Given the description of an element on the screen output the (x, y) to click on. 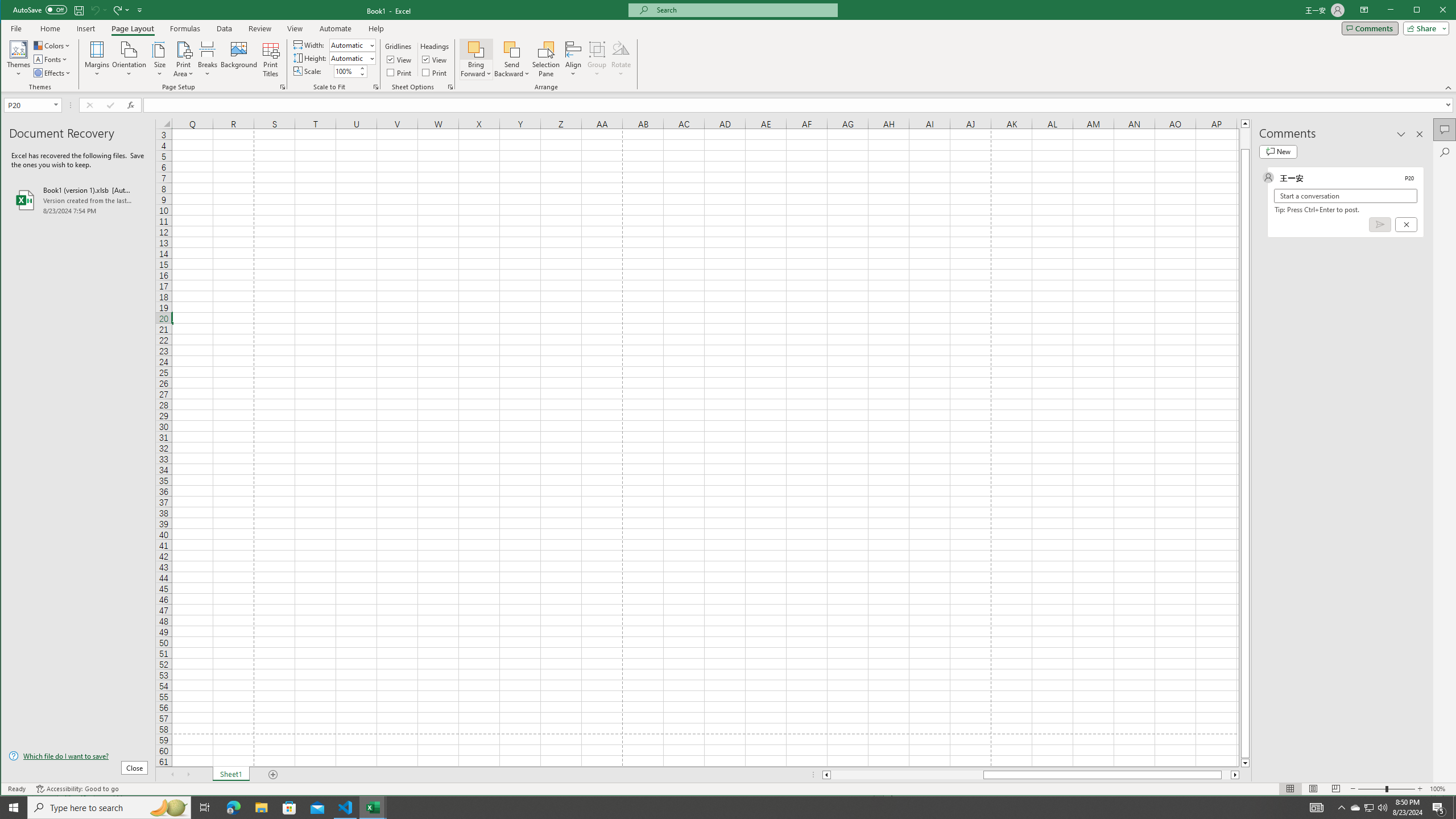
Height (349, 58)
Bring Forward (476, 59)
Fonts (51, 59)
Post comment (Ctrl + Enter) (1379, 224)
Group (596, 59)
Colors (53, 45)
Page up (1245, 138)
Page Setup (375, 86)
Print Titles (270, 59)
Action Center, 5 new notifications (1439, 807)
